Given the description of an element on the screen output the (x, y) to click on. 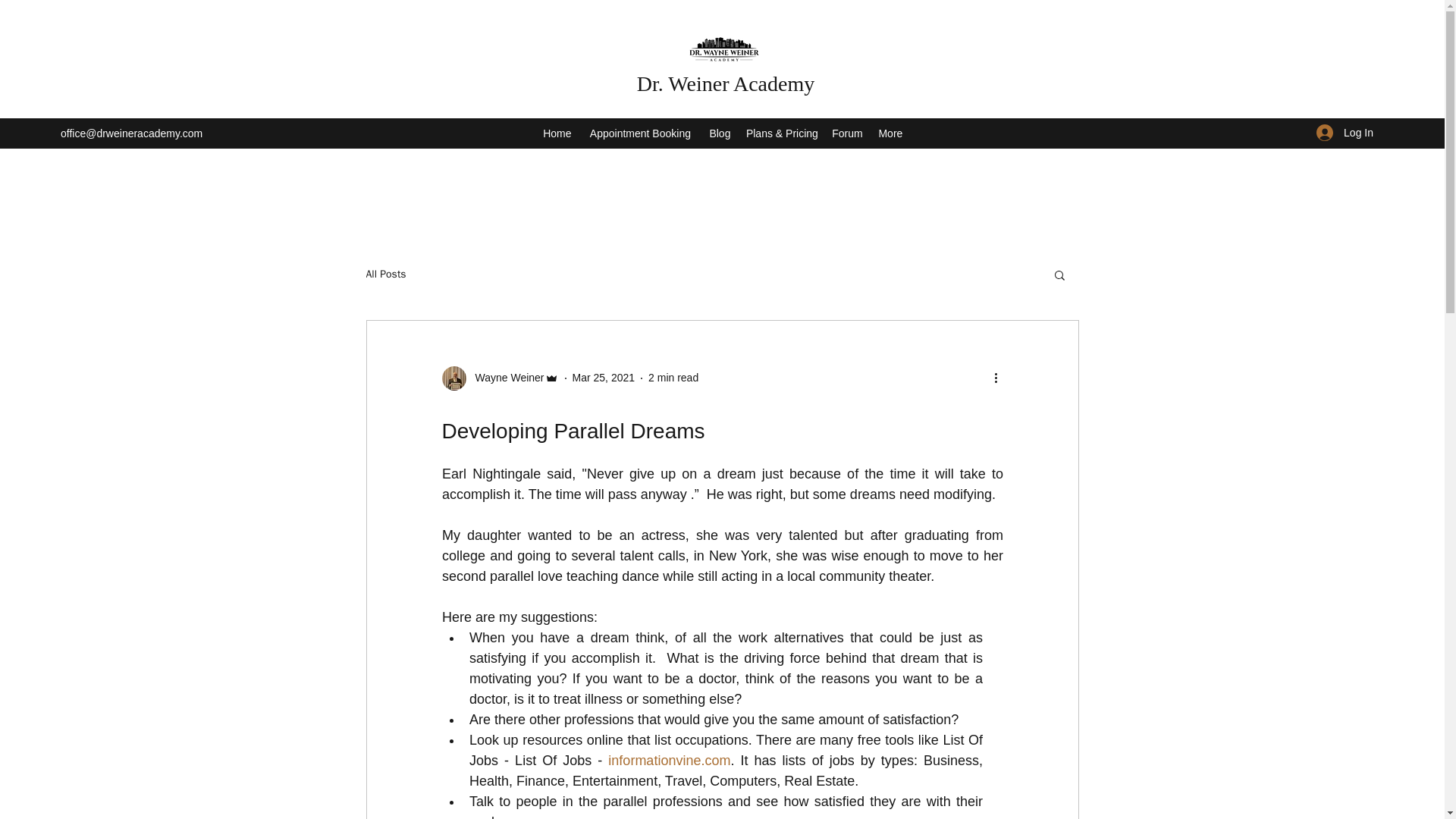
Dr. Weiner Academy (725, 83)
Blog (719, 132)
informationvine.com (669, 760)
2 min read (672, 377)
Home (557, 132)
Log In (1345, 132)
All Posts (385, 274)
Wayne Weiner (504, 377)
Mar 25, 2021 (603, 377)
Wayne Weiner (499, 378)
Forum (847, 132)
Appointment Booking (640, 132)
